Given the description of an element on the screen output the (x, y) to click on. 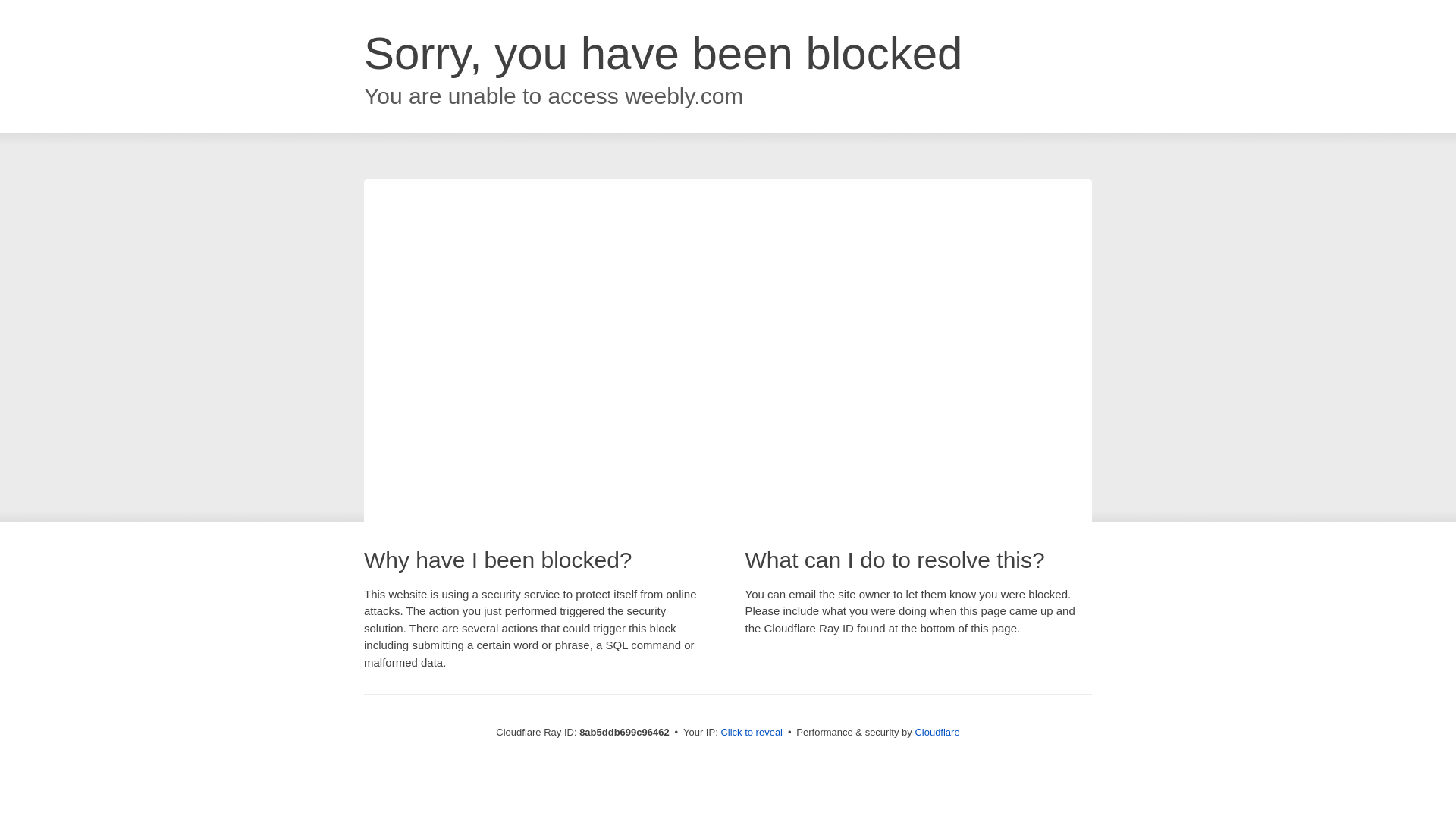
Click to reveal (751, 732)
Cloudflare (936, 731)
